Given the description of an element on the screen output the (x, y) to click on. 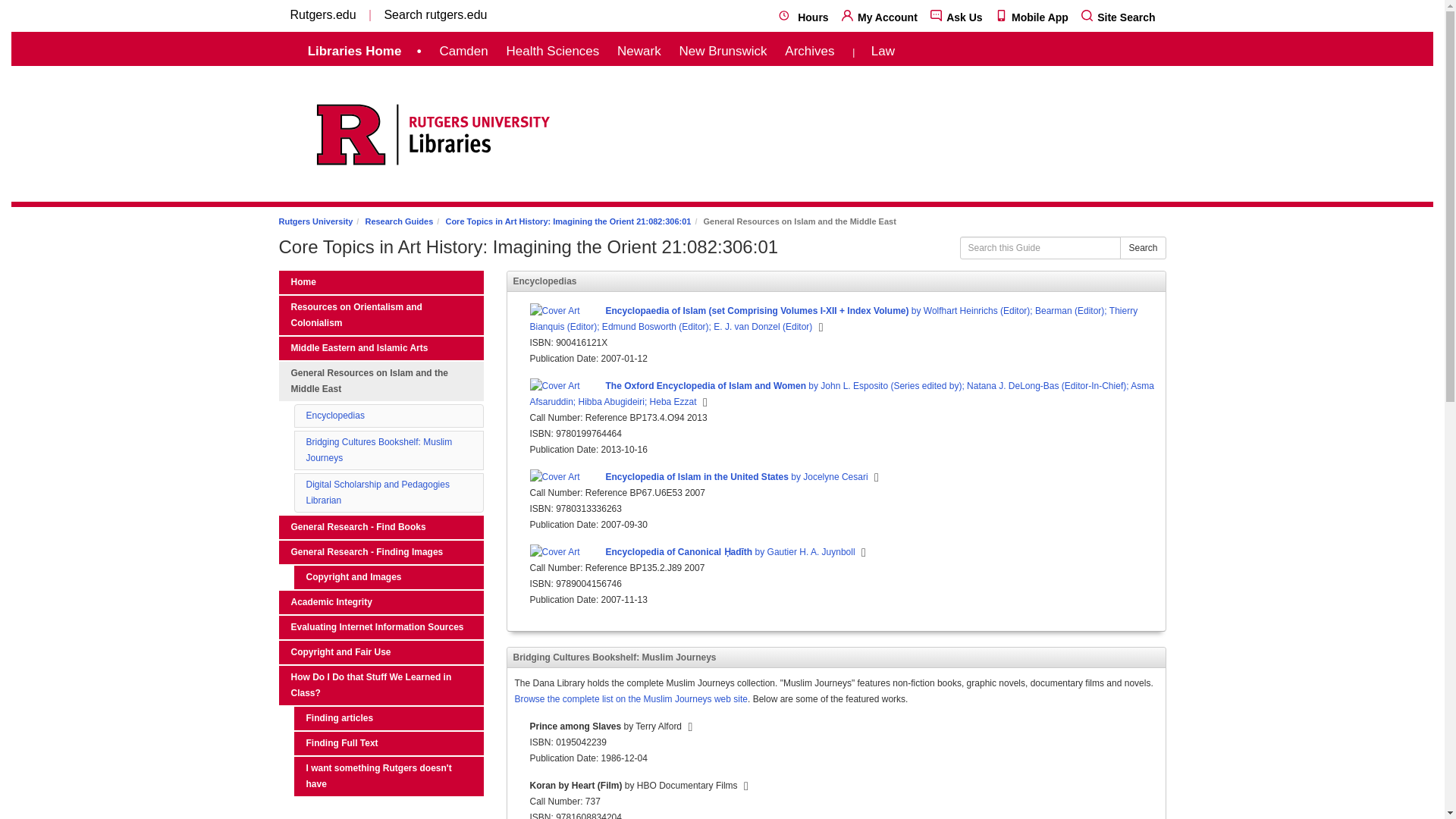
How Do I Do that Stuff We Learned in Class? (381, 685)
Bridging Cultures Bookshelf: Muslim Journeys (378, 449)
Copyright and Images (388, 576)
Rutgers.edu (322, 14)
Digital Scholarship and Pedagogies Librarian (377, 492)
Search rutgers.edu (435, 14)
Archives (809, 51)
Newark (639, 51)
Middle Eastern and Islamic Arts (381, 348)
General Research - Finding Images (381, 552)
